Given the description of an element on the screen output the (x, y) to click on. 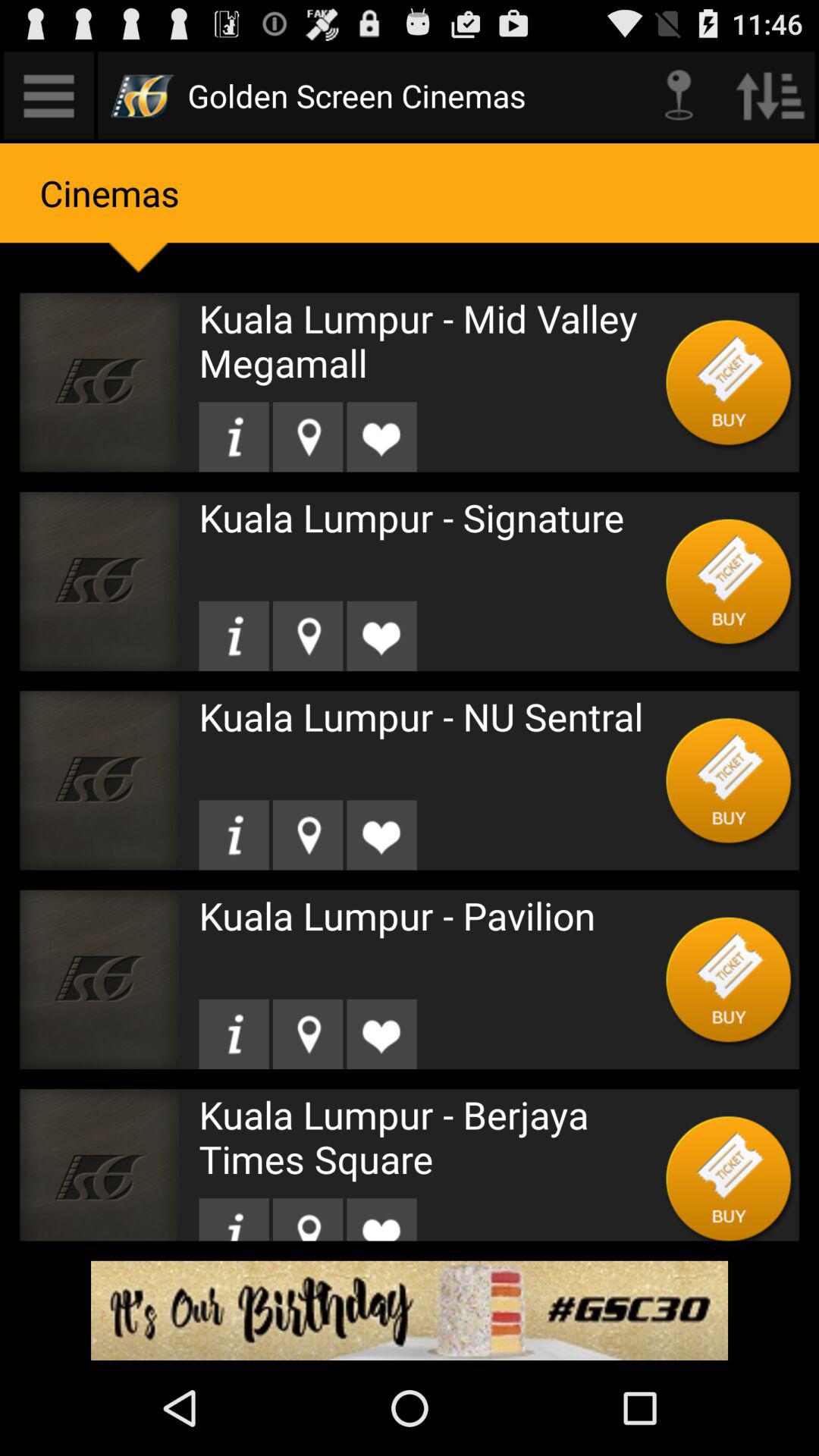
like item (381, 1219)
